Given the description of an element on the screen output the (x, y) to click on. 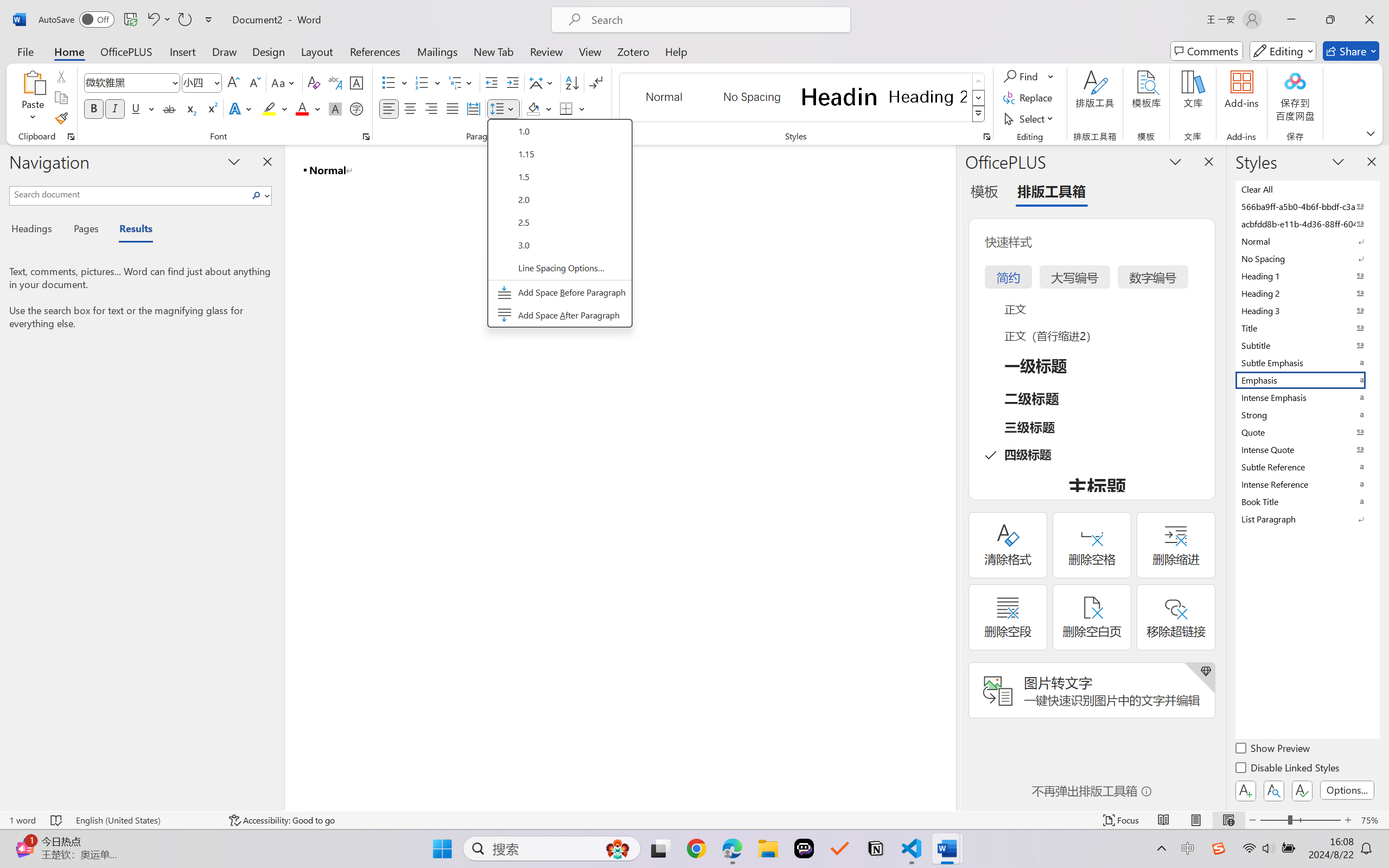
Replace... (1029, 97)
